Given the description of an element on the screen output the (x, y) to click on. 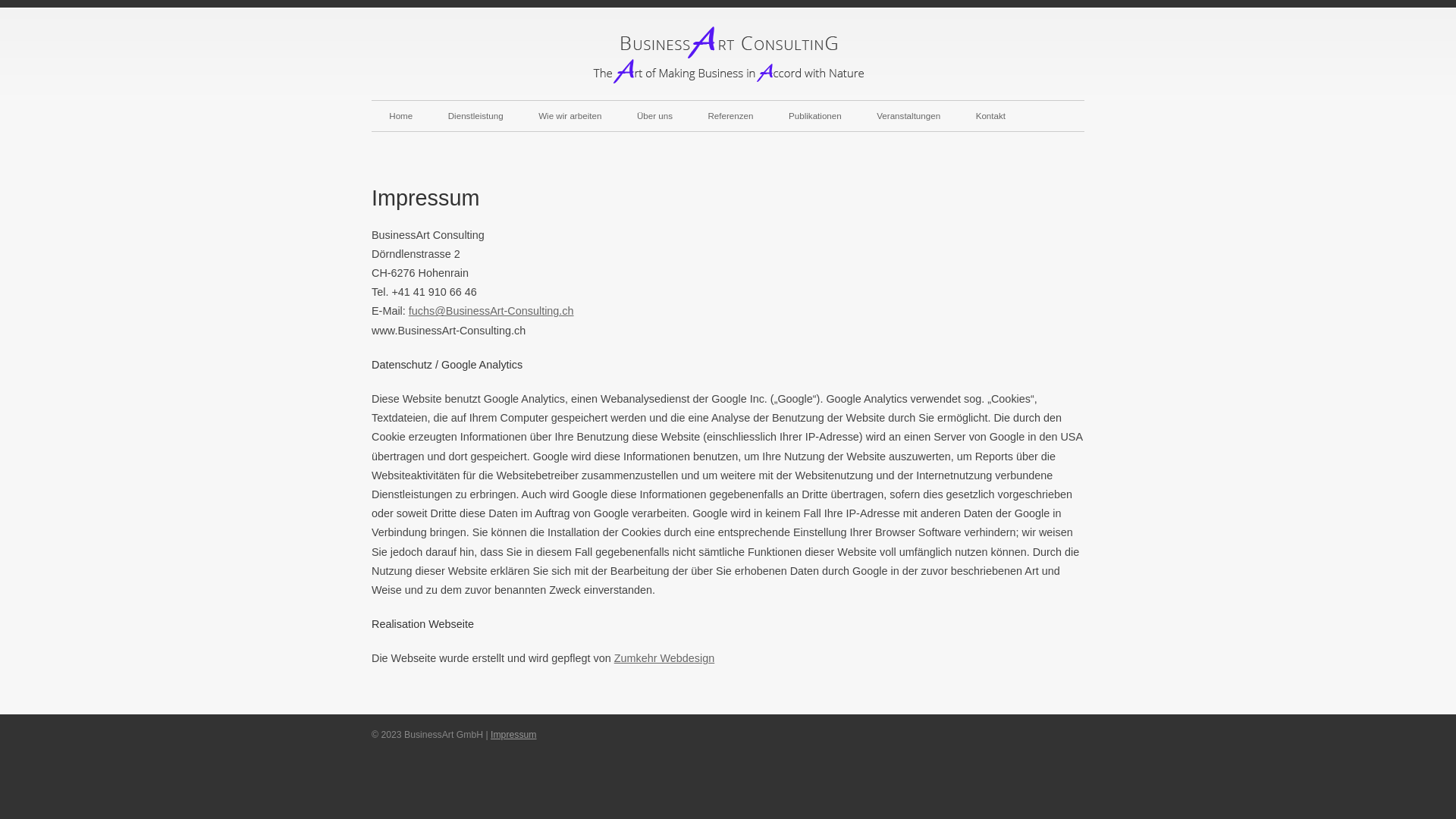
Referenzen Element type: text (730, 115)
Publikationen Element type: text (815, 115)
Kontakt Element type: text (989, 115)
fuchs@BusinessArt-Consulting.ch Element type: text (491, 310)
Impressum Element type: text (513, 734)
Zumkehr Webdesign Element type: text (664, 658)
Wie wir arbeiten Element type: text (569, 115)
Veranstaltungen Element type: text (908, 115)
Home Element type: text (400, 115)
Dienstleistung Element type: text (474, 115)
